Given the description of an element on the screen output the (x, y) to click on. 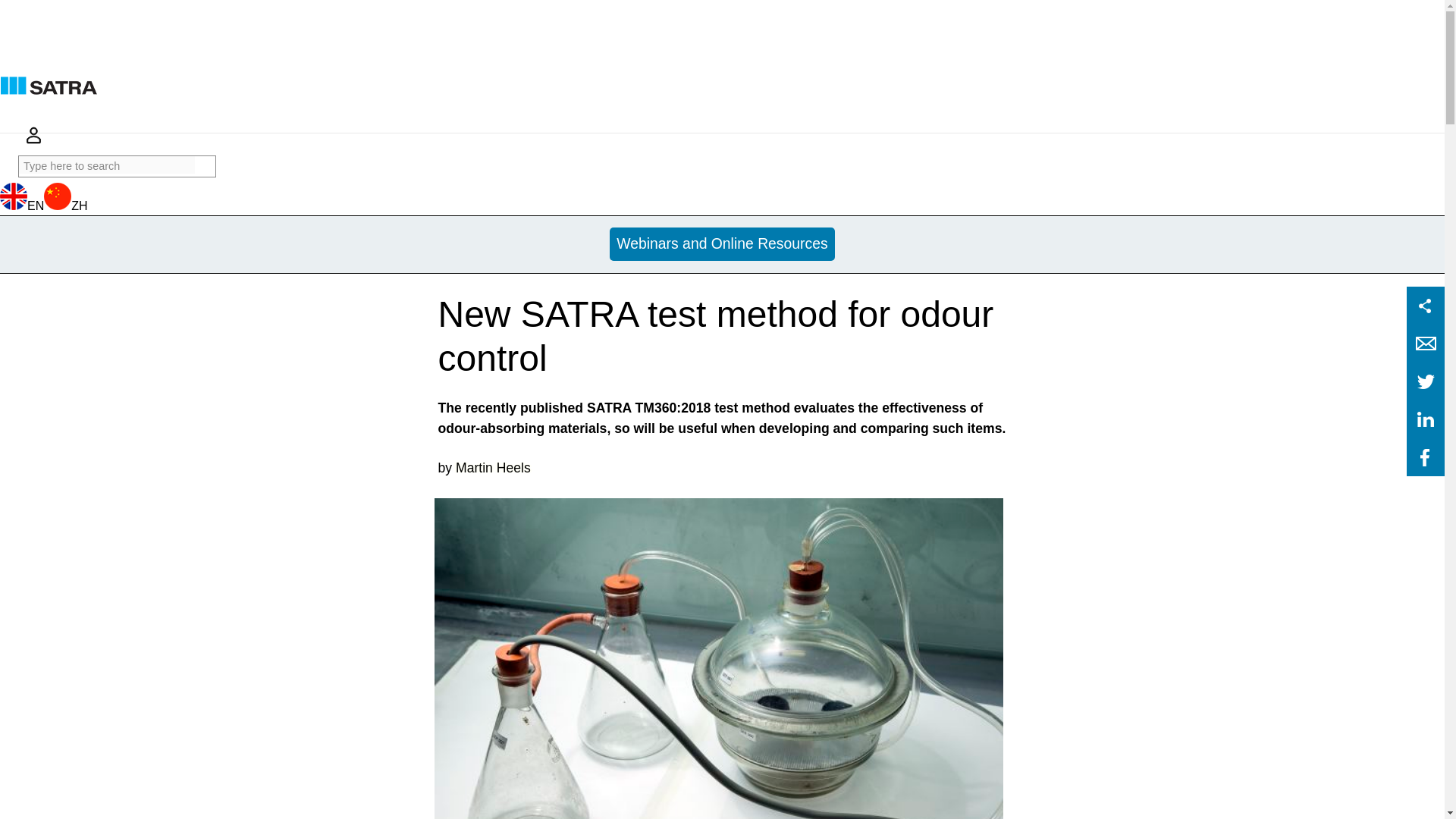
Martin Heels (493, 467)
Webinars and Online Resources (722, 244)
Change language (41, 173)
EN (21, 205)
ZH (65, 205)
Your SATRA account (33, 135)
Your SATRA account (33, 140)
EN (41, 173)
go (205, 166)
